Given the description of an element on the screen output the (x, y) to click on. 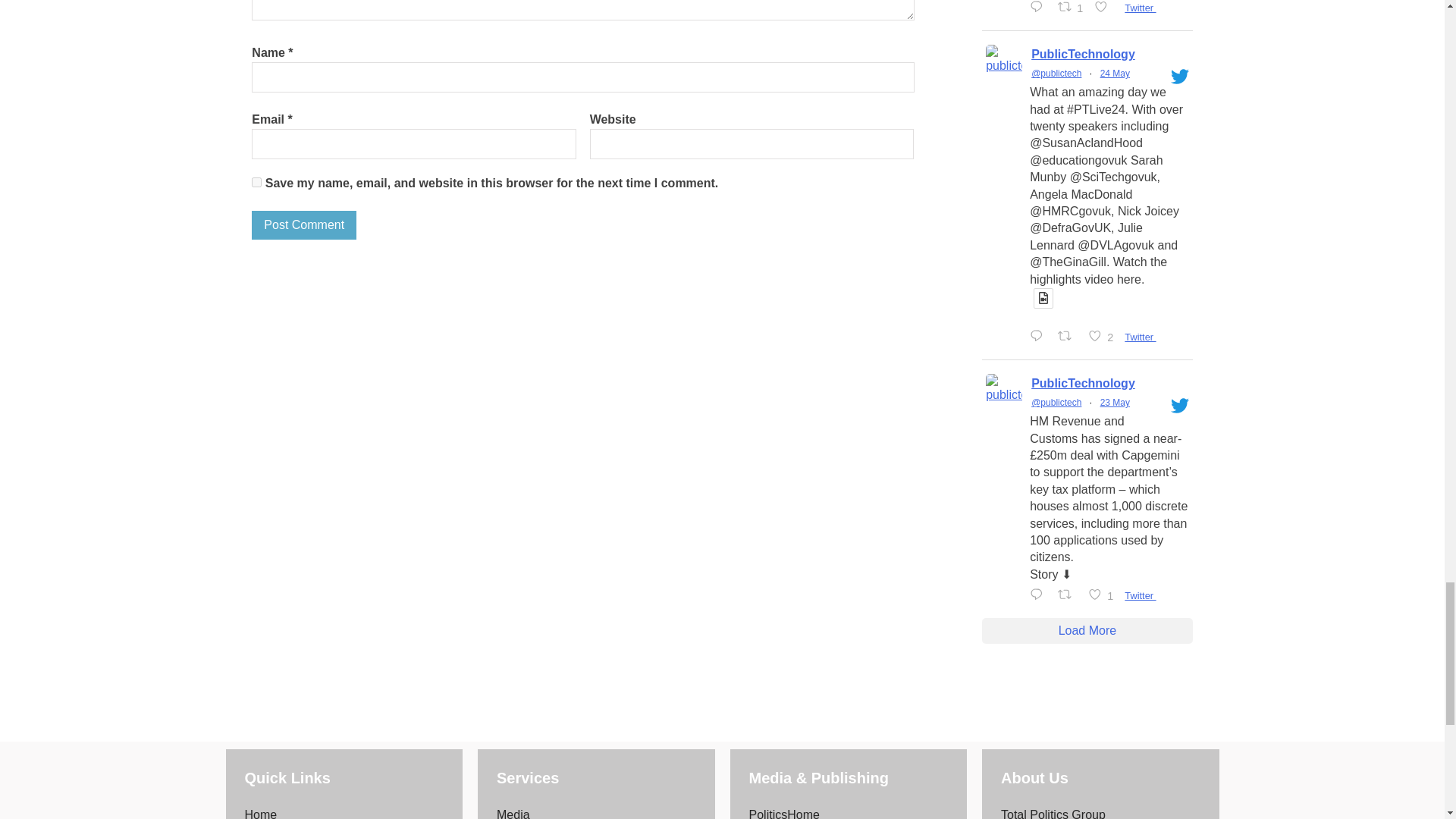
yes (256, 182)
Post Comment (303, 224)
